Given the description of an element on the screen output the (x, y) to click on. 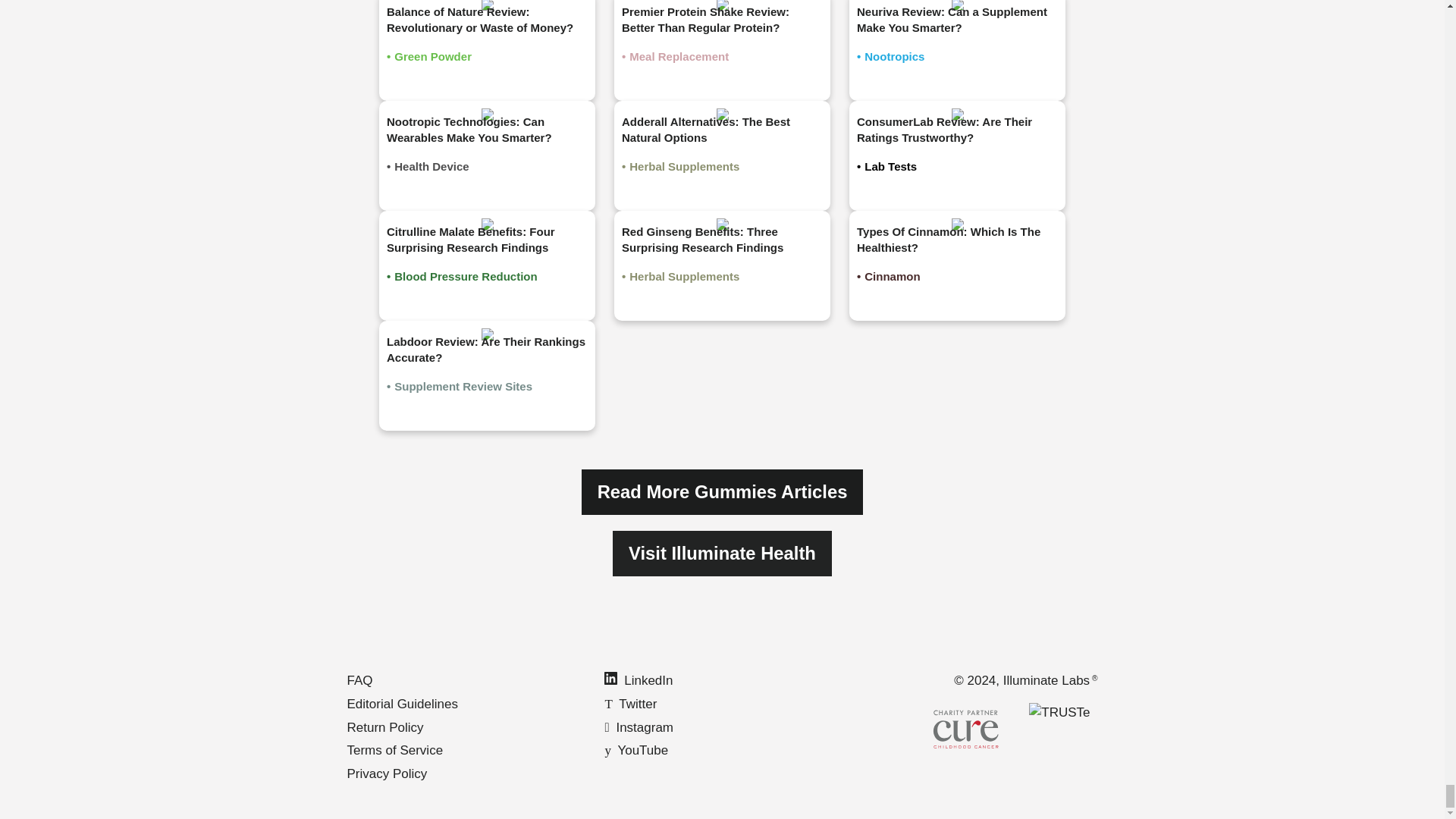
Illuminate Labs on LinkedIn (638, 680)
Illuminate Labs on Instagram (638, 726)
Illuminate Labs on YouTube (636, 749)
Illuminate Labs on Twitter (630, 703)
